Given the description of an element on the screen output the (x, y) to click on. 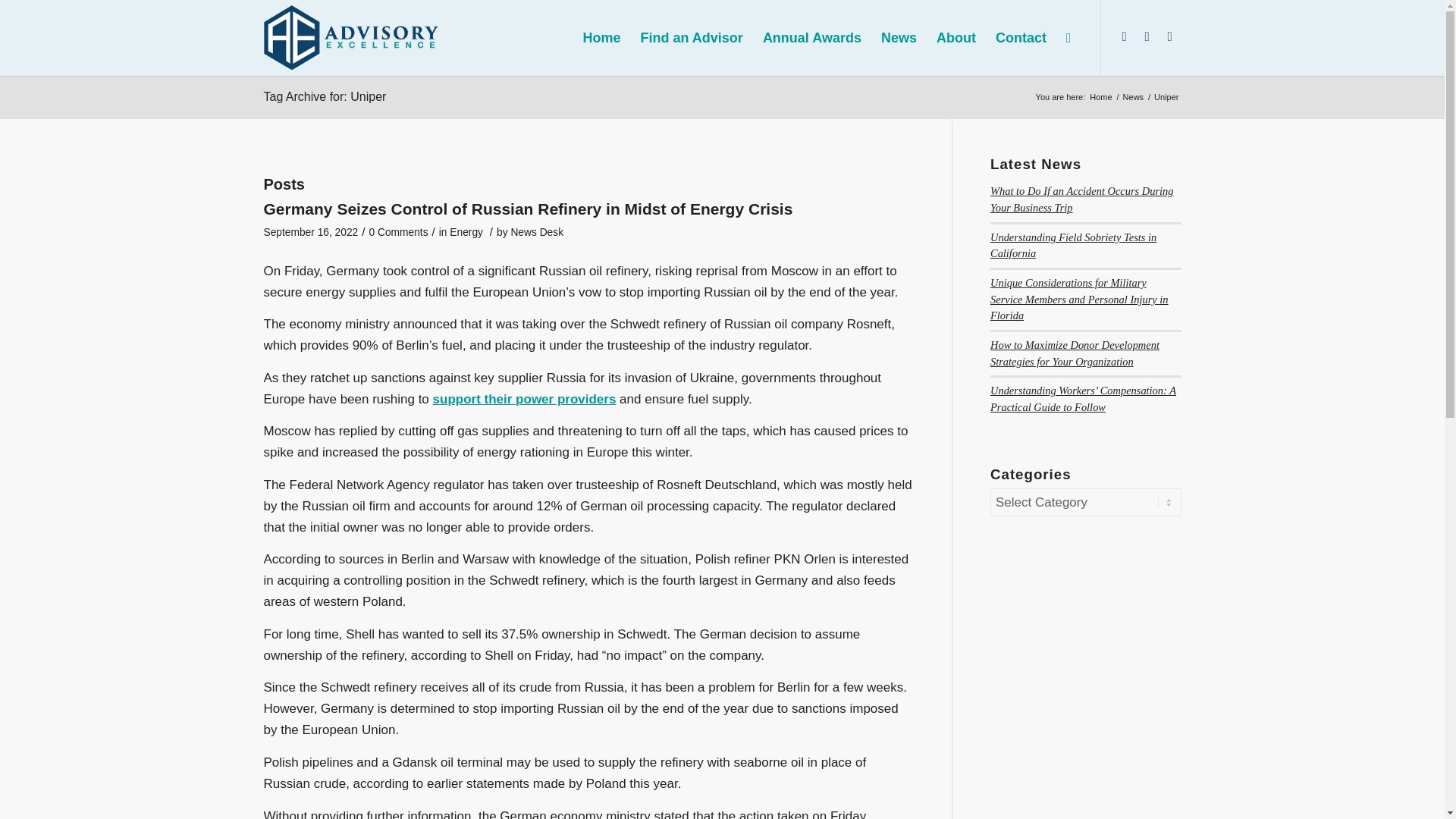
Find an Advisor (691, 38)
Annual Awards (811, 38)
Advisory-Excellence-logo (351, 36)
Contact (1021, 38)
News Desk (537, 232)
Twitter (1146, 36)
Facebook (1169, 36)
support their power providers (523, 399)
Advisory Excellence (1100, 97)
